Given the description of an element on the screen output the (x, y) to click on. 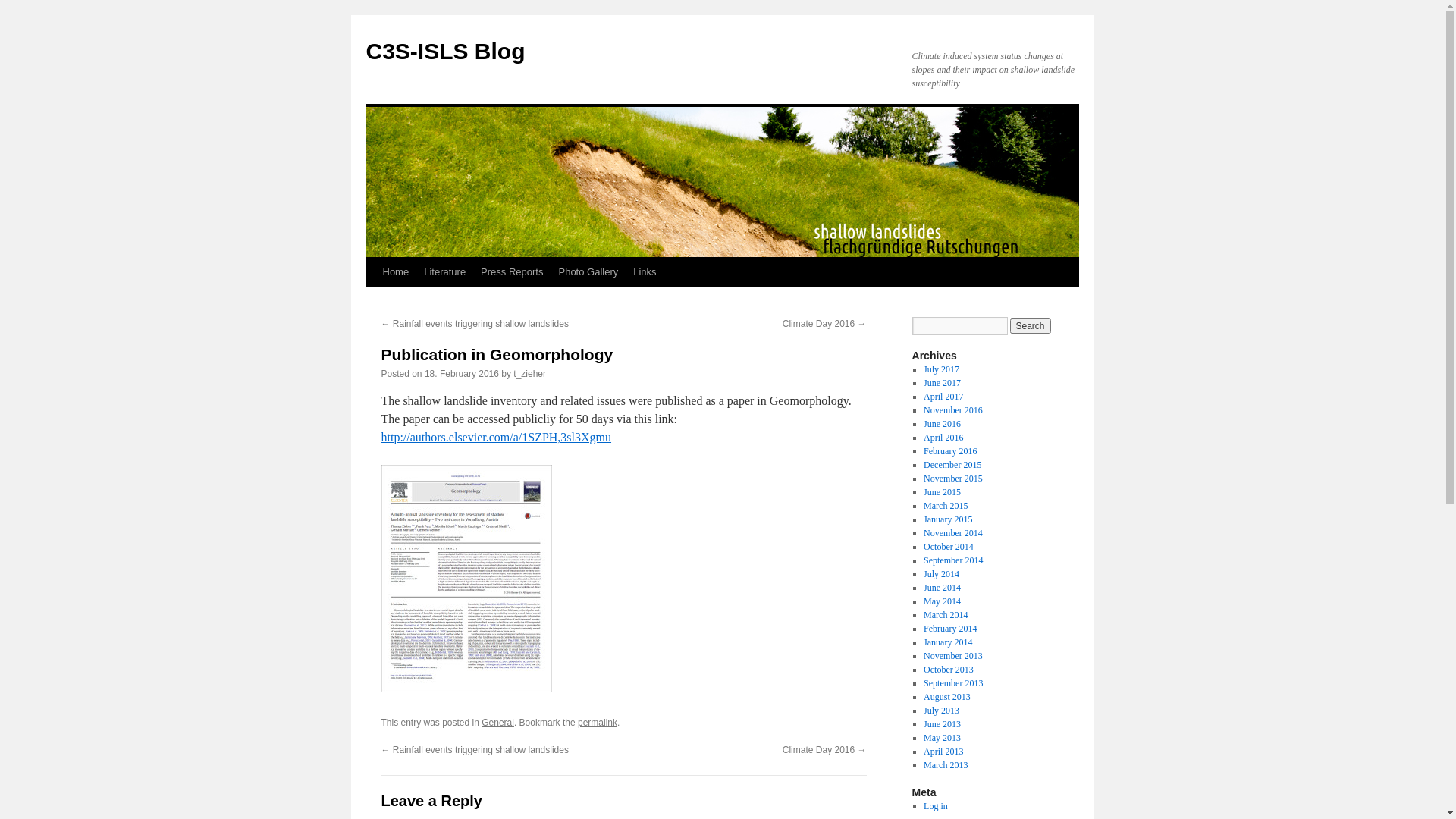
June 2016 Element type: text (941, 423)
April 2017 Element type: text (943, 396)
October 2013 Element type: text (948, 669)
March 2014 Element type: text (945, 614)
September 2013 Element type: text (952, 682)
Press Reports Element type: text (511, 271)
December 2015 Element type: text (952, 464)
Home Element type: text (395, 271)
February 2014 Element type: text (949, 628)
August 2013 Element type: text (946, 696)
March 2015 Element type: text (945, 505)
Literature Element type: text (444, 271)
June 2013 Element type: text (941, 723)
May 2014 Element type: text (941, 601)
General Element type: text (497, 722)
Photo Gallery Element type: text (587, 271)
April 2016 Element type: text (943, 437)
Links Element type: text (644, 271)
February 2016 Element type: text (949, 450)
July 2013 Element type: text (941, 710)
Log in Element type: text (935, 805)
November 2016 Element type: text (952, 409)
18. February 2016 Element type: text (461, 373)
November 2014 Element type: text (952, 532)
June 2014 Element type: text (941, 587)
t_zieher Element type: text (529, 373)
September 2014 Element type: text (952, 560)
January 2014 Element type: text (947, 642)
http://authors.elsevier.com/a/1SZPH,3sl3Xgmu Element type: text (495, 436)
June 2015 Element type: text (941, 491)
January 2015 Element type: text (947, 519)
C3S-ISLS Blog Element type: text (444, 50)
November 2013 Element type: text (952, 655)
March 2013 Element type: text (945, 764)
October 2014 Element type: text (948, 546)
permalink Element type: text (597, 722)
July 2014 Element type: text (941, 573)
June 2017 Element type: text (941, 382)
Search Element type: text (1030, 325)
July 2017 Element type: text (941, 369)
November 2015 Element type: text (952, 478)
April 2013 Element type: text (943, 751)
May 2013 Element type: text (941, 737)
Skip to content Element type: text (372, 300)
